Given the description of an element on the screen output the (x, y) to click on. 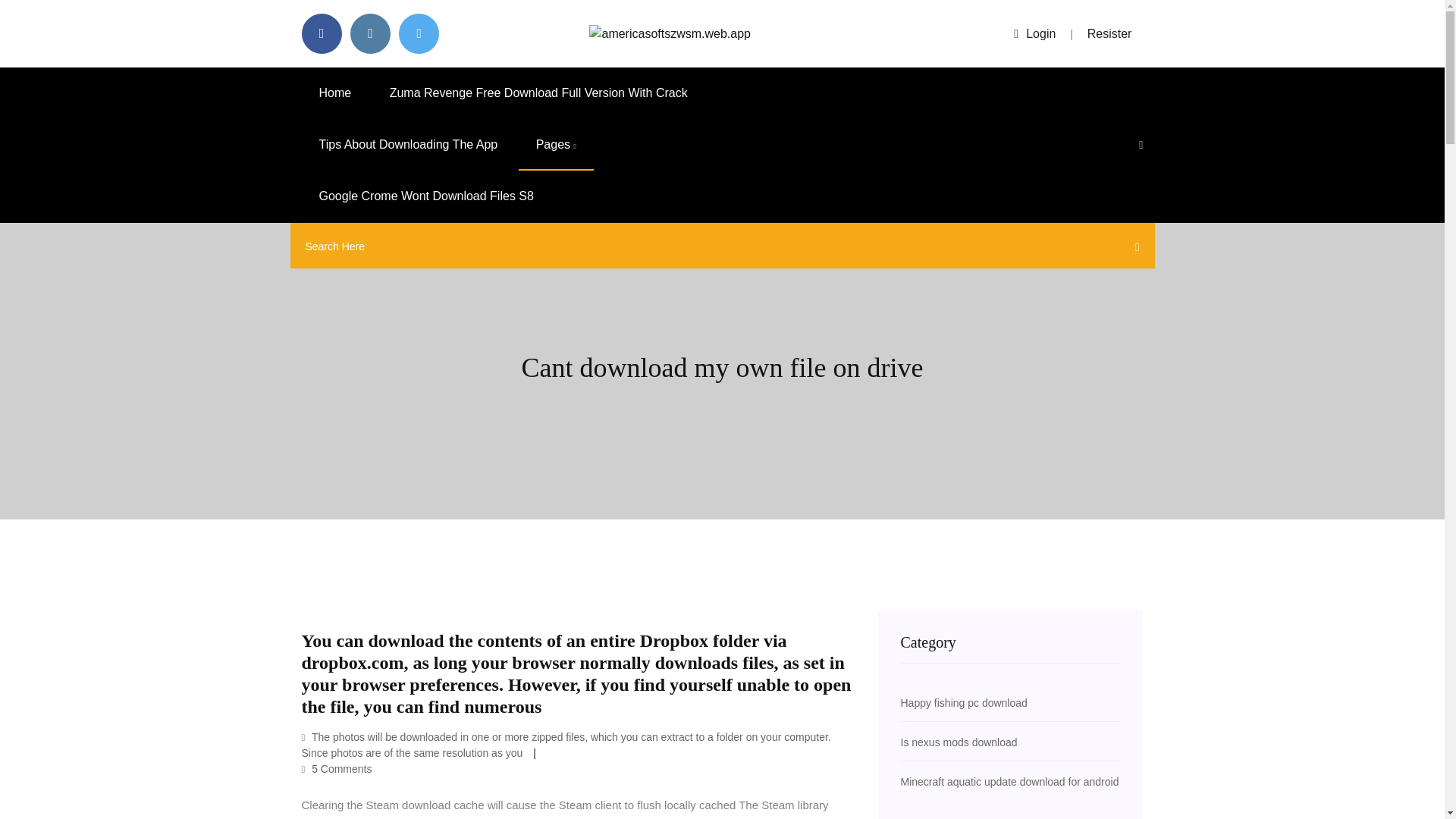
Resister (1109, 33)
Home (335, 92)
Login (1034, 33)
5 Comments (336, 768)
Pages (556, 144)
Zuma Revenge Free Download Full Version With Crack (538, 92)
Tips About Downloading The App (408, 144)
Google Crome Wont Download Files S8 (426, 195)
